Given the description of an element on the screen output the (x, y) to click on. 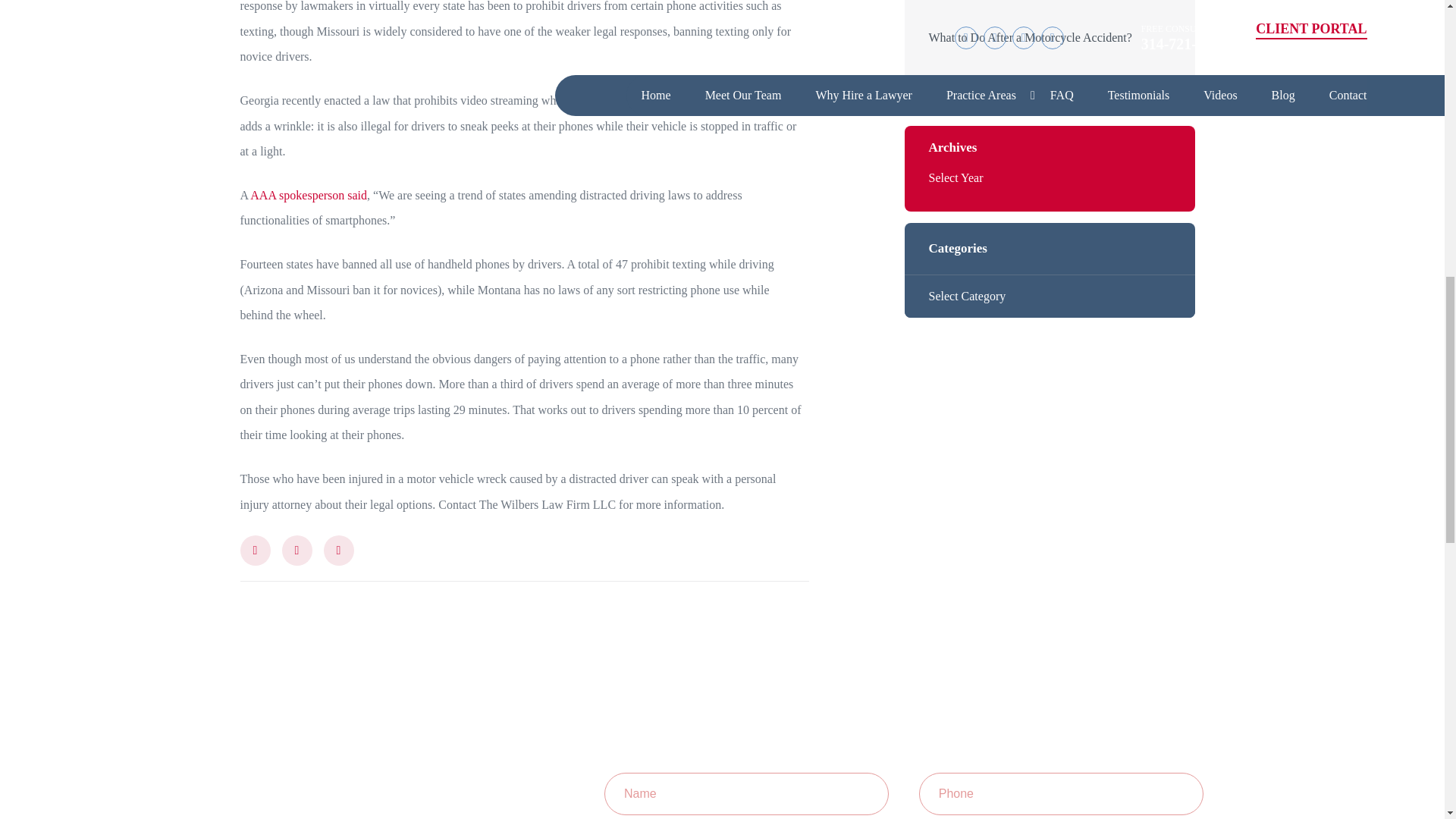
How Long Does a Car Accident Settlement Take? (1049, 80)
AAA spokesperson said (308, 195)
What to Do After a Motorcycle Accident? (1049, 37)
What are 3rd Party Auto and Trucking Accident Claims? (1049, 2)
